Given the description of an element on the screen output the (x, y) to click on. 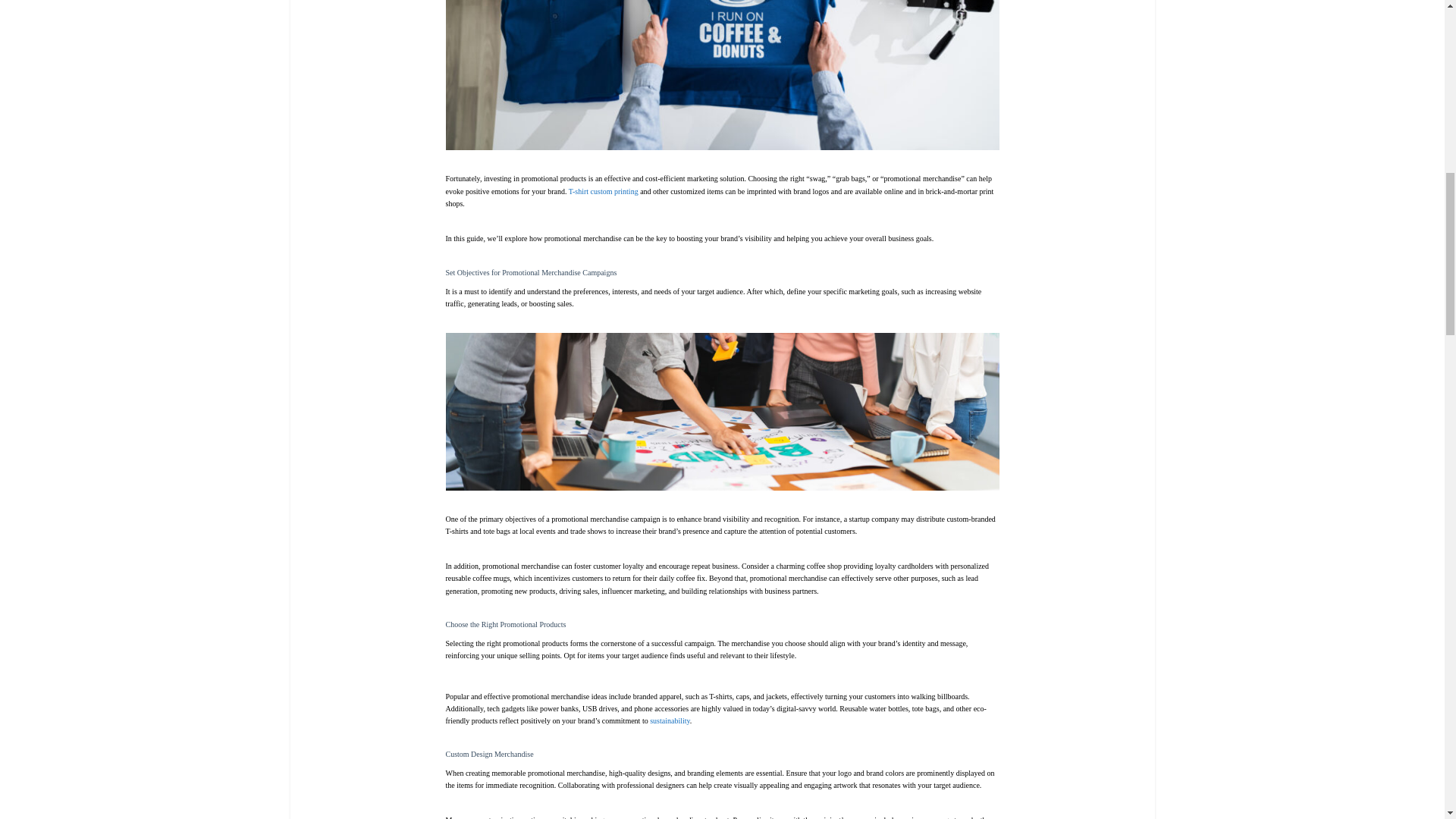
sustainability (669, 720)
T-shirt custom printing (604, 191)
